Given the description of an element on the screen output the (x, y) to click on. 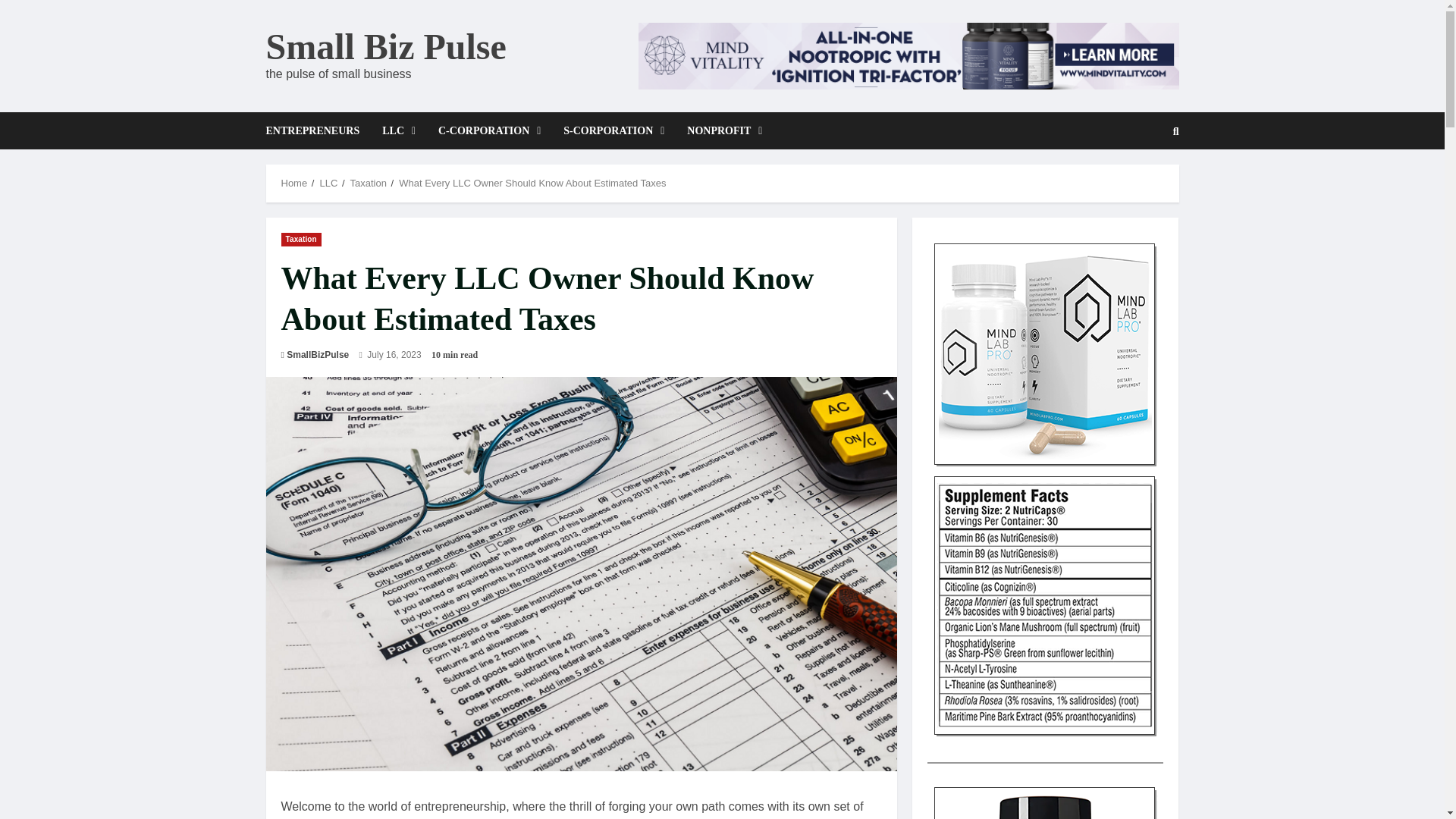
Search (1139, 182)
ENTREPRENEURS (317, 130)
S-CORPORATION (613, 130)
LLC (398, 130)
Small Biz Pulse (384, 46)
Home (294, 183)
Taxation (368, 183)
NONPROFIT (718, 130)
What Every LLC Owner Should Know About Estimated Taxes (531, 183)
C-CORPORATION (488, 130)
